Given the description of an element on the screen output the (x, y) to click on. 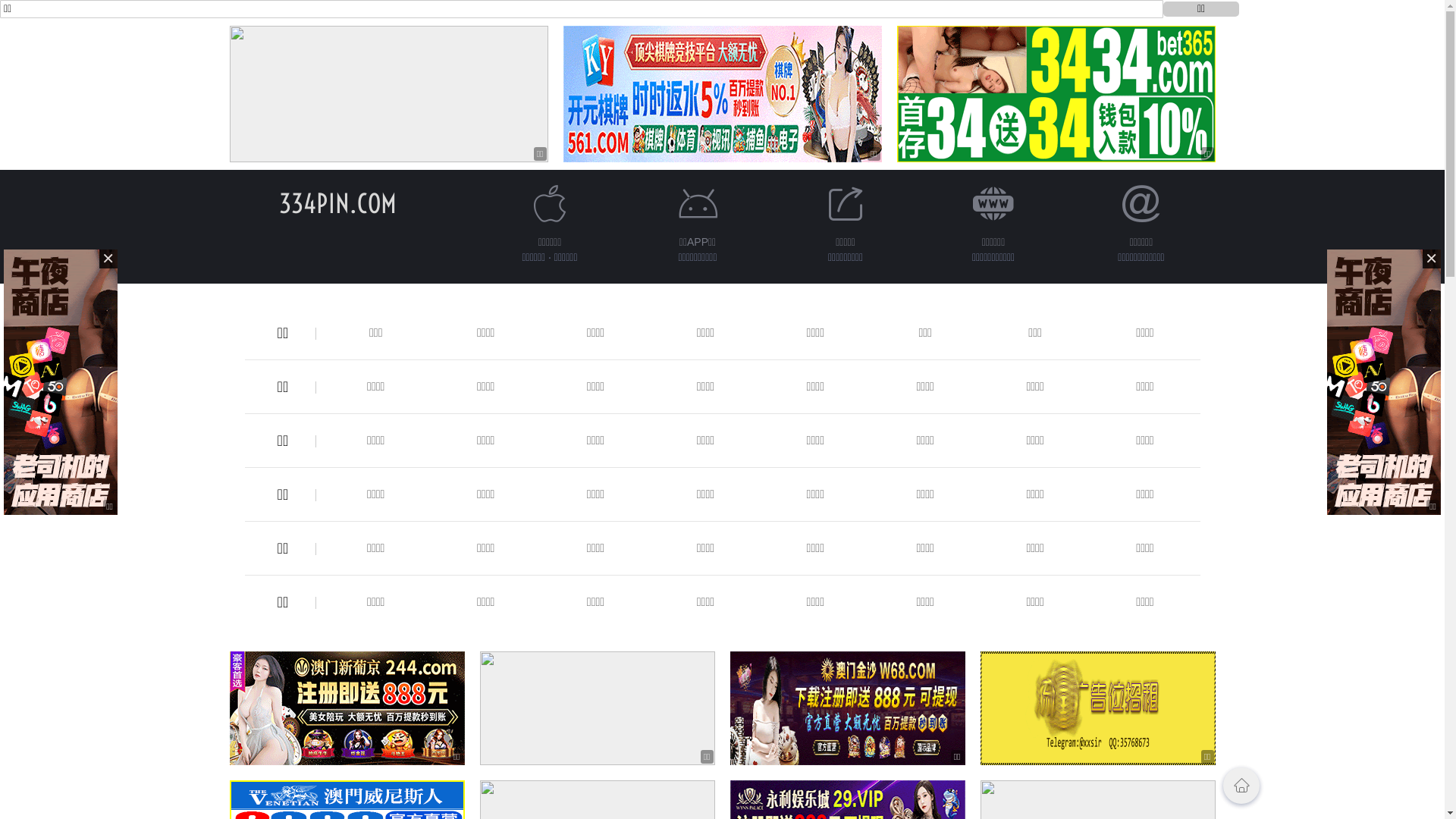
334PIN.COM Element type: text (337, 203)
